Given the description of an element on the screen output the (x, y) to click on. 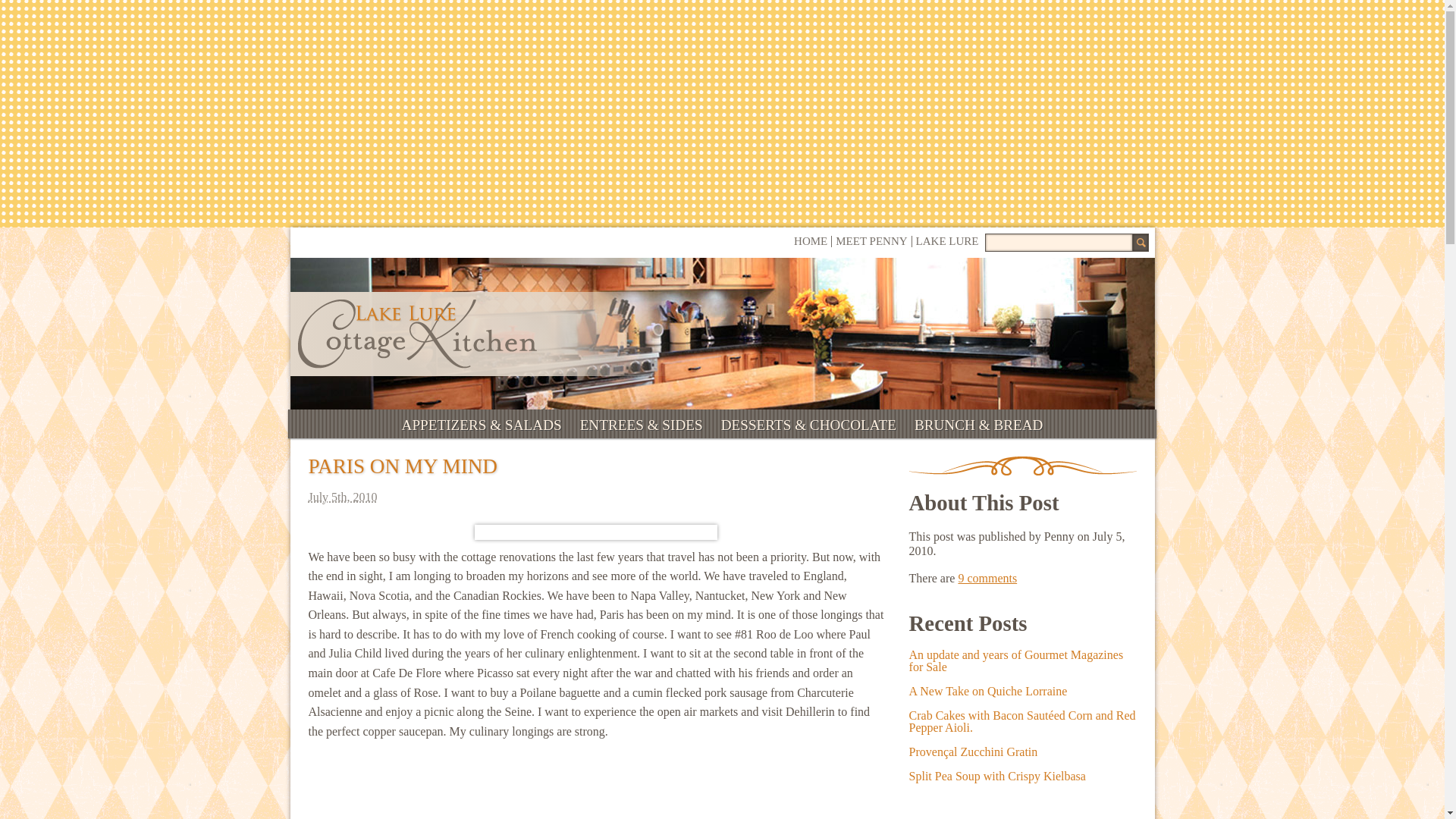
HOME (810, 241)
Search (1139, 242)
Lake Lure Cottage Kitchen (416, 333)
LAKE LURE (946, 241)
Advertisement (595, 789)
MEET PENNY (871, 241)
An update and years of Gourmet Magazines for Sale (1016, 660)
9 comments (987, 577)
2010-07-05T07:42:00-04:00 (595, 497)
